Given the description of an element on the screen output the (x, y) to click on. 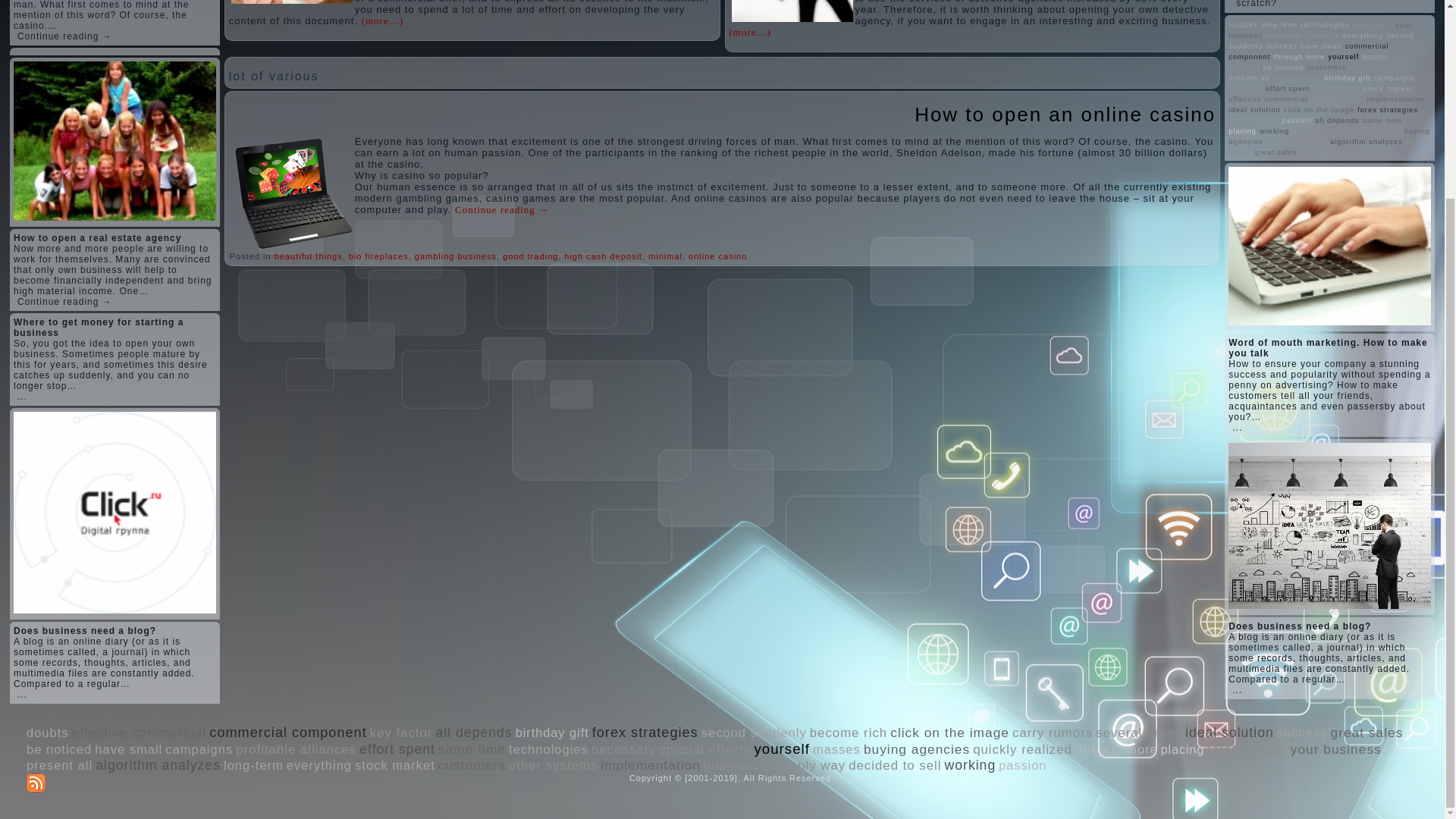
bio fireplaces (379, 256)
... (22, 694)
How to open an online casino (1064, 114)
online casino (717, 256)
high cash deposit (603, 256)
gambling business (455, 256)
good trading (529, 256)
... (22, 396)
How to open an online casino (1064, 114)
beautiful things (308, 256)
minimal (664, 256)
